Given the description of an element on the screen output the (x, y) to click on. 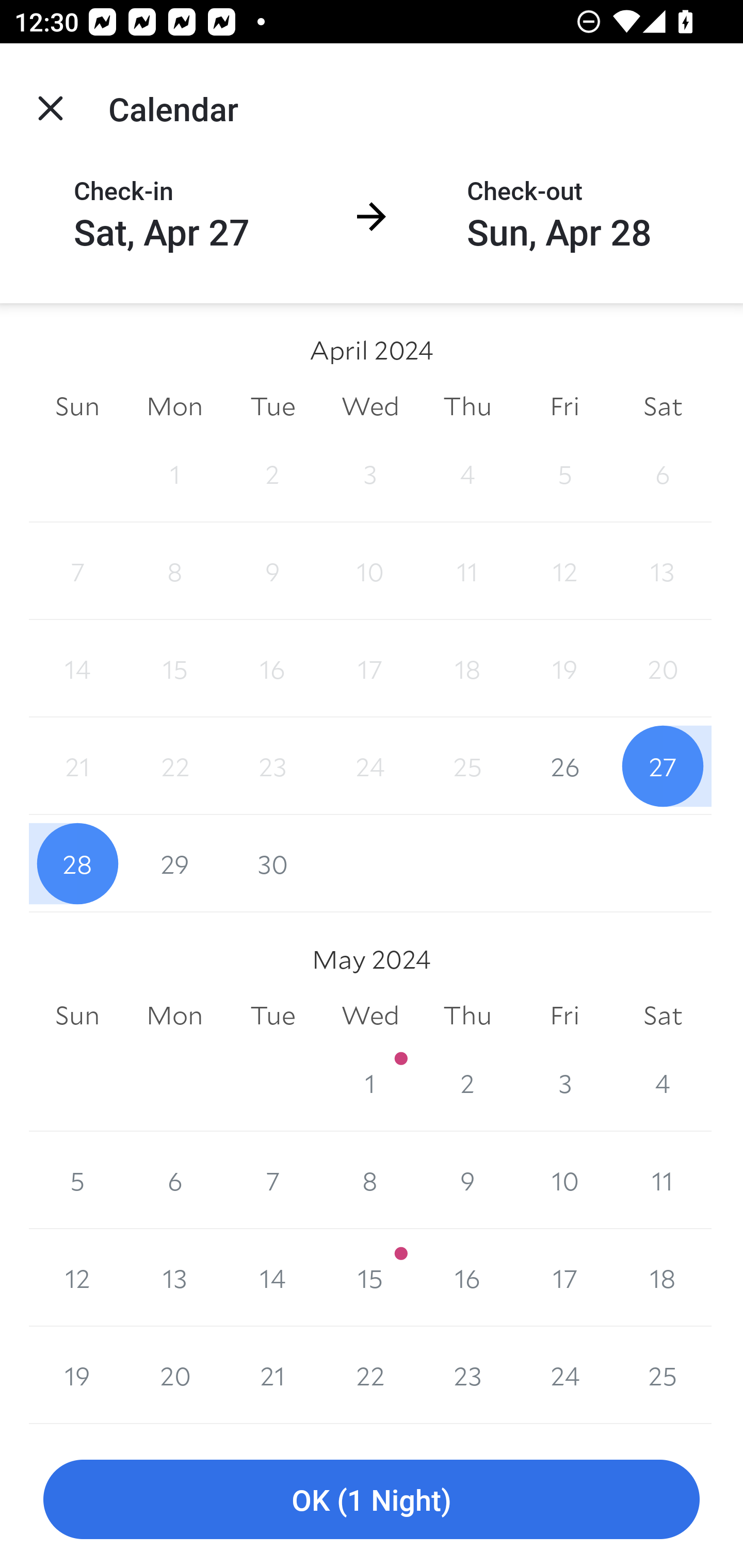
Sun (77, 405)
Mon (174, 405)
Tue (272, 405)
Wed (370, 405)
Thu (467, 405)
Fri (564, 405)
Sat (662, 405)
1 1 April 2024 (174, 473)
2 2 April 2024 (272, 473)
3 3 April 2024 (370, 473)
4 4 April 2024 (467, 473)
5 5 April 2024 (564, 473)
6 6 April 2024 (662, 473)
7 7 April 2024 (77, 570)
8 8 April 2024 (174, 570)
9 9 April 2024 (272, 570)
10 10 April 2024 (370, 570)
11 11 April 2024 (467, 570)
12 12 April 2024 (564, 570)
13 13 April 2024 (662, 570)
14 14 April 2024 (77, 668)
15 15 April 2024 (174, 668)
16 16 April 2024 (272, 668)
17 17 April 2024 (370, 668)
18 18 April 2024 (467, 668)
19 19 April 2024 (564, 668)
20 20 April 2024 (662, 668)
21 21 April 2024 (77, 766)
22 22 April 2024 (174, 766)
23 23 April 2024 (272, 766)
24 24 April 2024 (370, 766)
25 25 April 2024 (467, 766)
26 26 April 2024 (564, 766)
27 27 April 2024 (662, 766)
28 28 April 2024 (77, 863)
29 29 April 2024 (174, 863)
30 30 April 2024 (272, 863)
Sun (77, 1015)
Mon (174, 1015)
Tue (272, 1015)
Wed (370, 1015)
Thu (467, 1015)
Fri (564, 1015)
Sat (662, 1015)
1 1 May 2024 (370, 1083)
2 2 May 2024 (467, 1083)
3 3 May 2024 (564, 1083)
4 4 May 2024 (662, 1083)
5 5 May 2024 (77, 1180)
6 6 May 2024 (174, 1180)
7 7 May 2024 (272, 1180)
8 8 May 2024 (370, 1180)
9 9 May 2024 (467, 1180)
10 10 May 2024 (564, 1180)
11 11 May 2024 (662, 1180)
12 12 May 2024 (77, 1277)
13 13 May 2024 (174, 1277)
14 14 May 2024 (272, 1277)
15 15 May 2024 (370, 1277)
16 16 May 2024 (467, 1277)
17 17 May 2024 (564, 1277)
18 18 May 2024 (662, 1277)
19 19 May 2024 (77, 1374)
20 20 May 2024 (174, 1374)
21 21 May 2024 (272, 1374)
22 22 May 2024 (370, 1374)
23 23 May 2024 (467, 1374)
24 24 May 2024 (564, 1374)
25 25 May 2024 (662, 1374)
OK (1 Night) (371, 1499)
